Given the description of an element on the screen output the (x, y) to click on. 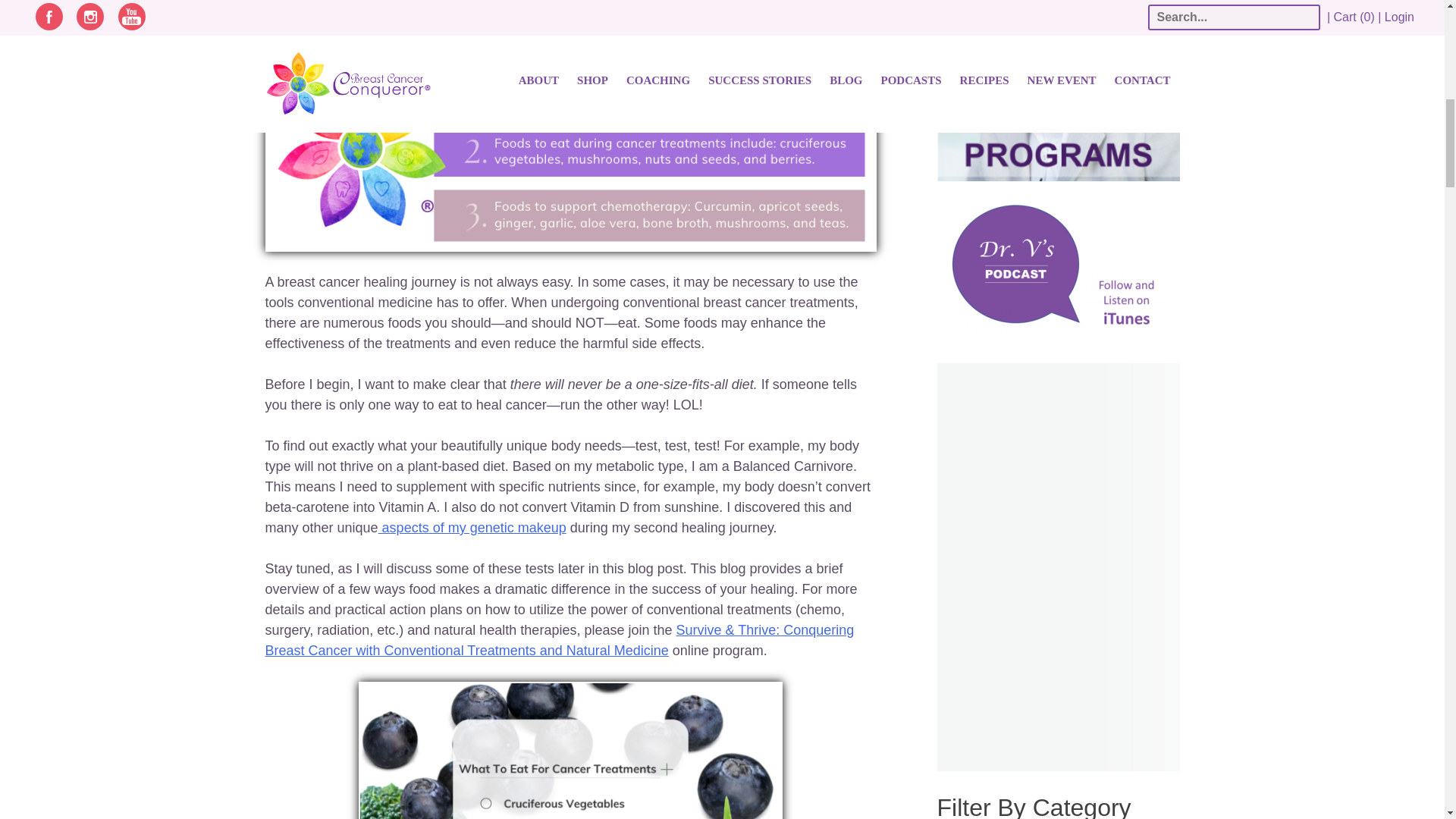
aspects of my genetic makeup (472, 527)
